Given the description of an element on the screen output the (x, y) to click on. 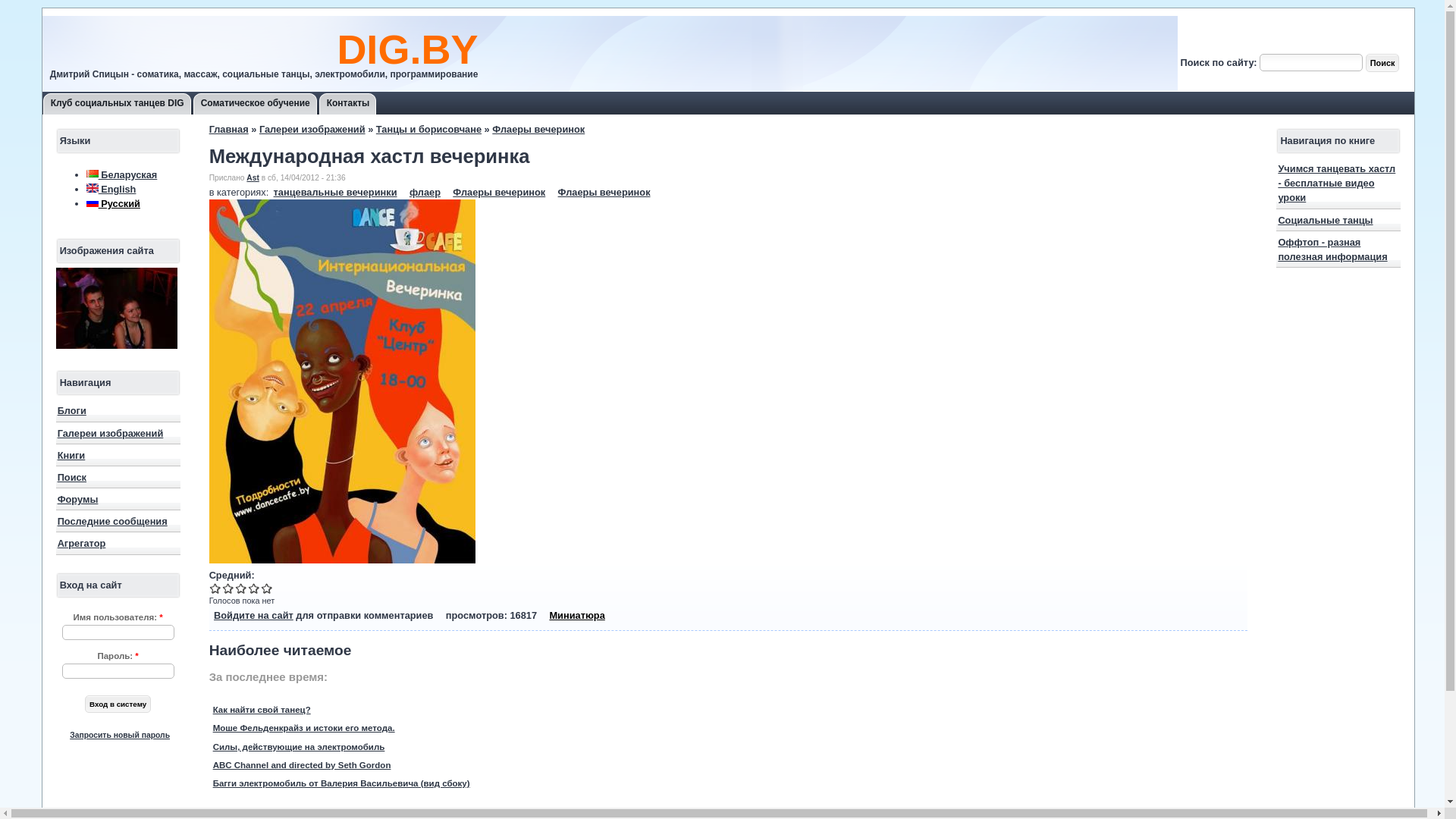
DIG.BY Element type: text (406, 49)
ABC Channel and directed by Seth Gordon Element type: text (302, 764)
English Element type: text (111, 188)
English Element type: hover (92, 187)
Ast Element type: text (252, 177)
